Given the description of an element on the screen output the (x, y) to click on. 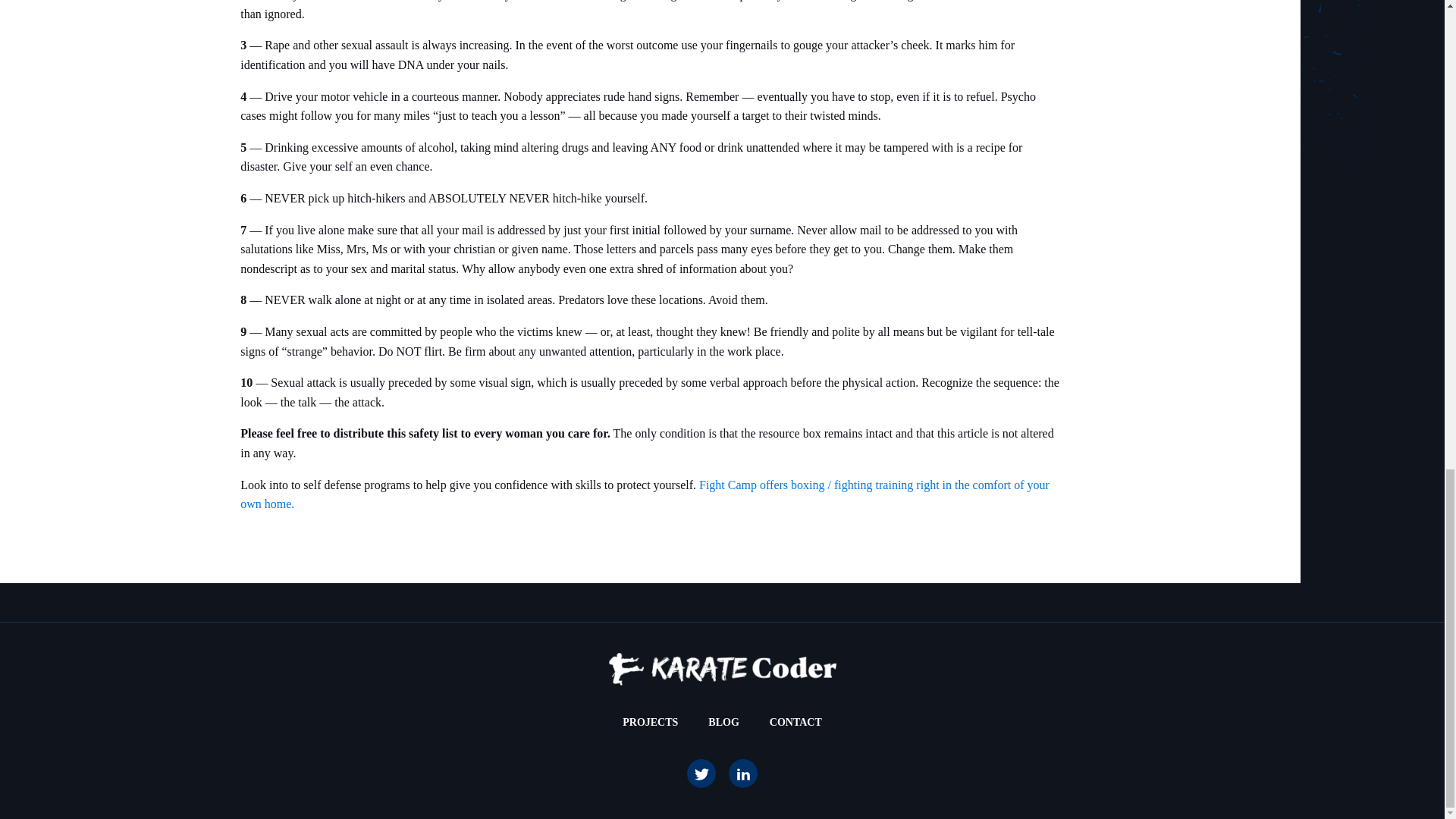
BLOG (723, 722)
PROJECTS (650, 722)
CONTACT (795, 722)
